Given the description of an element on the screen output the (x, y) to click on. 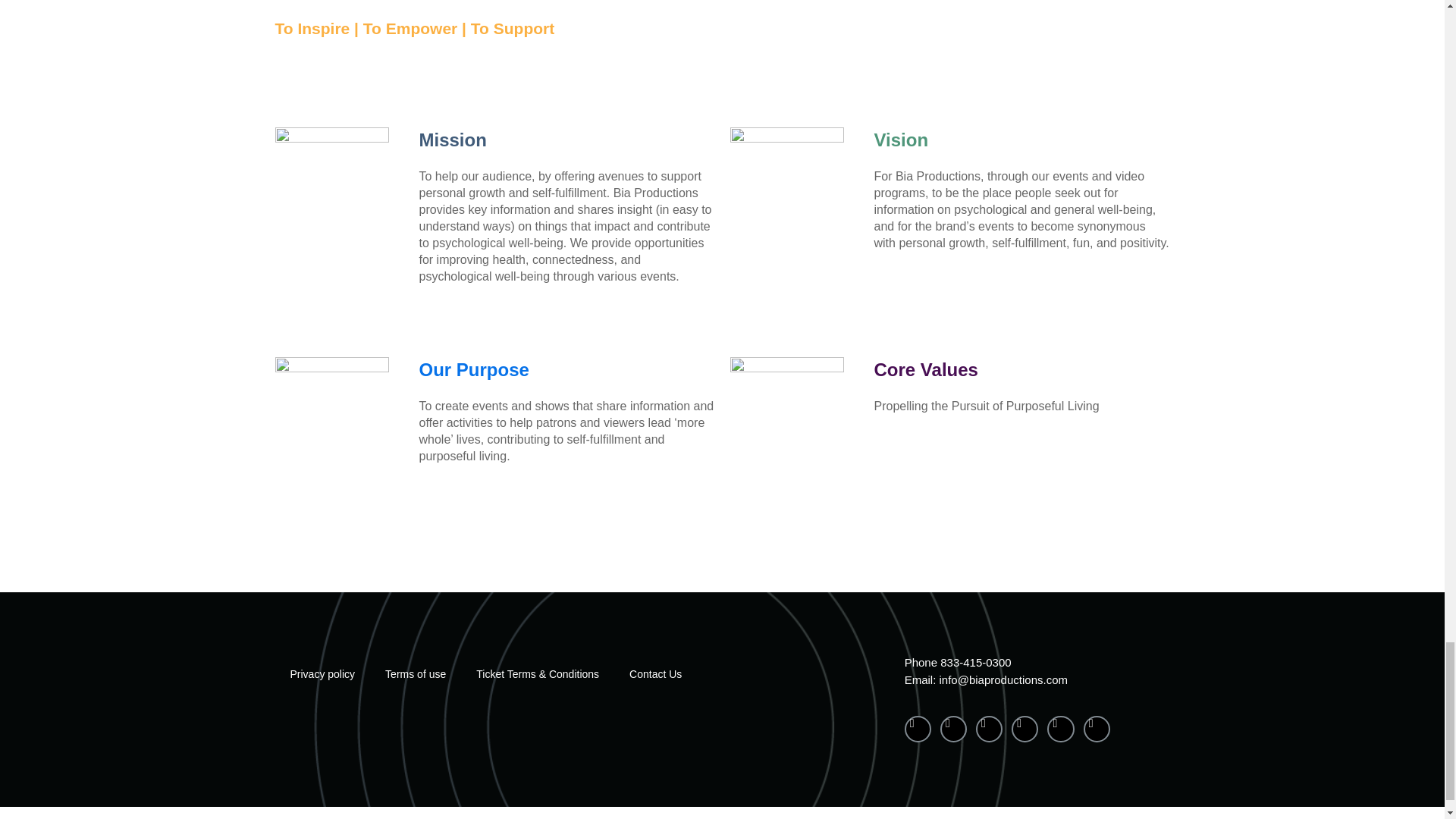
Contact Us (655, 673)
Privacy policy (322, 673)
Terms of use (415, 673)
